Given the description of an element on the screen output the (x, y) to click on. 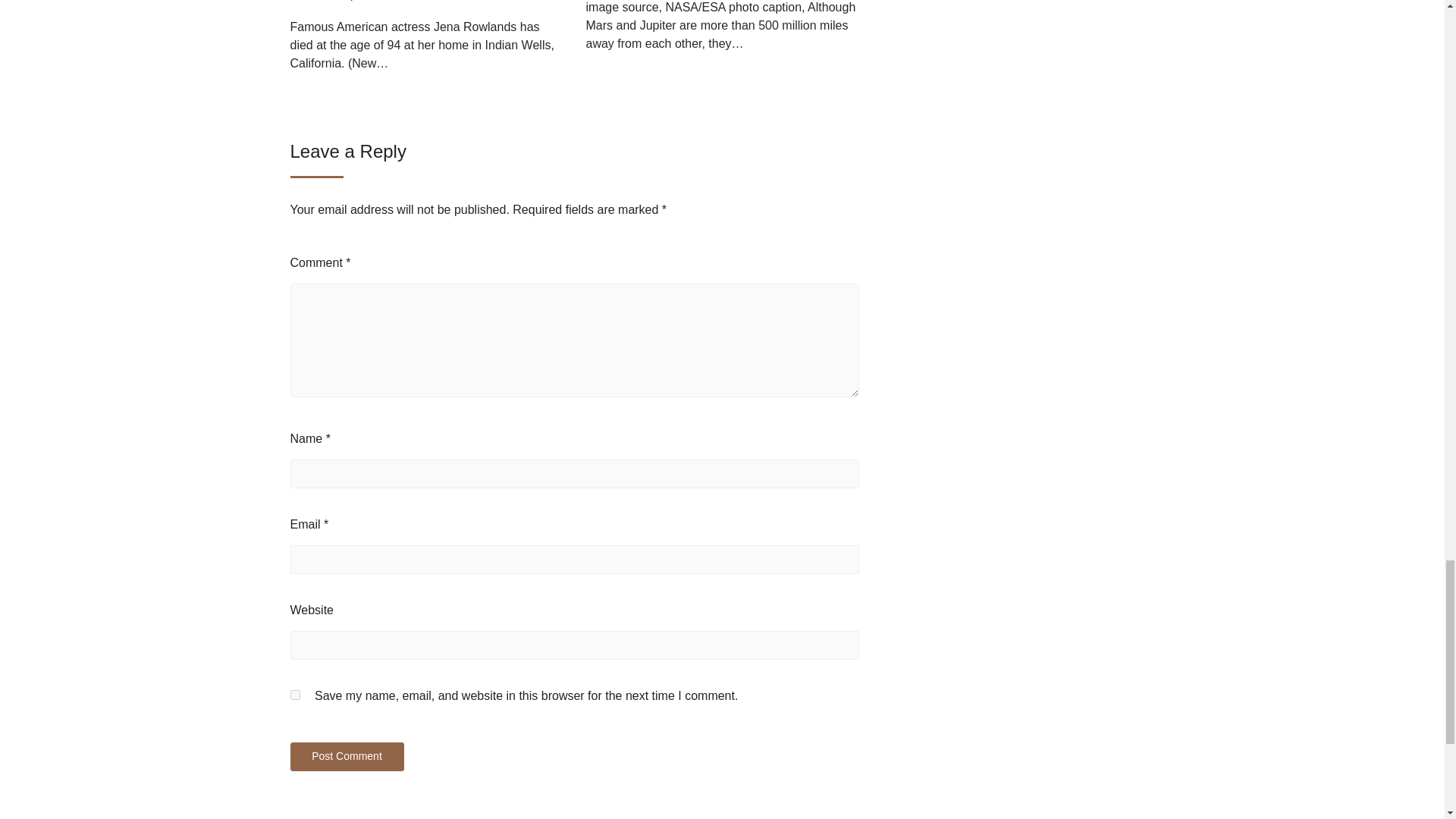
Post Comment (346, 756)
Post Comment (346, 756)
yes (294, 695)
